Given the description of an element on the screen output the (x, y) to click on. 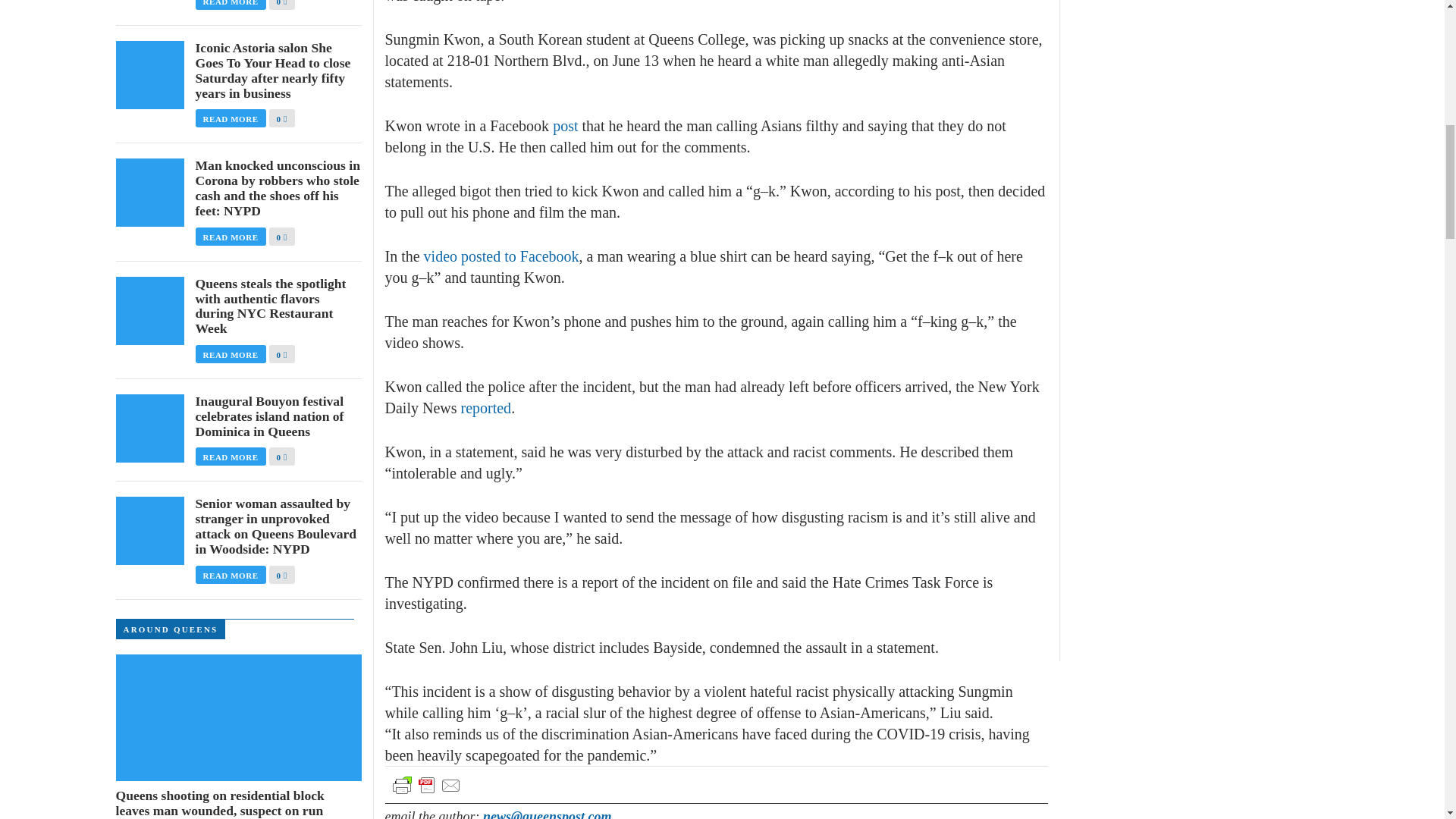
video posted to Facebook (501, 256)
post (565, 125)
reported (485, 407)
